Given the description of an element on the screen output the (x, y) to click on. 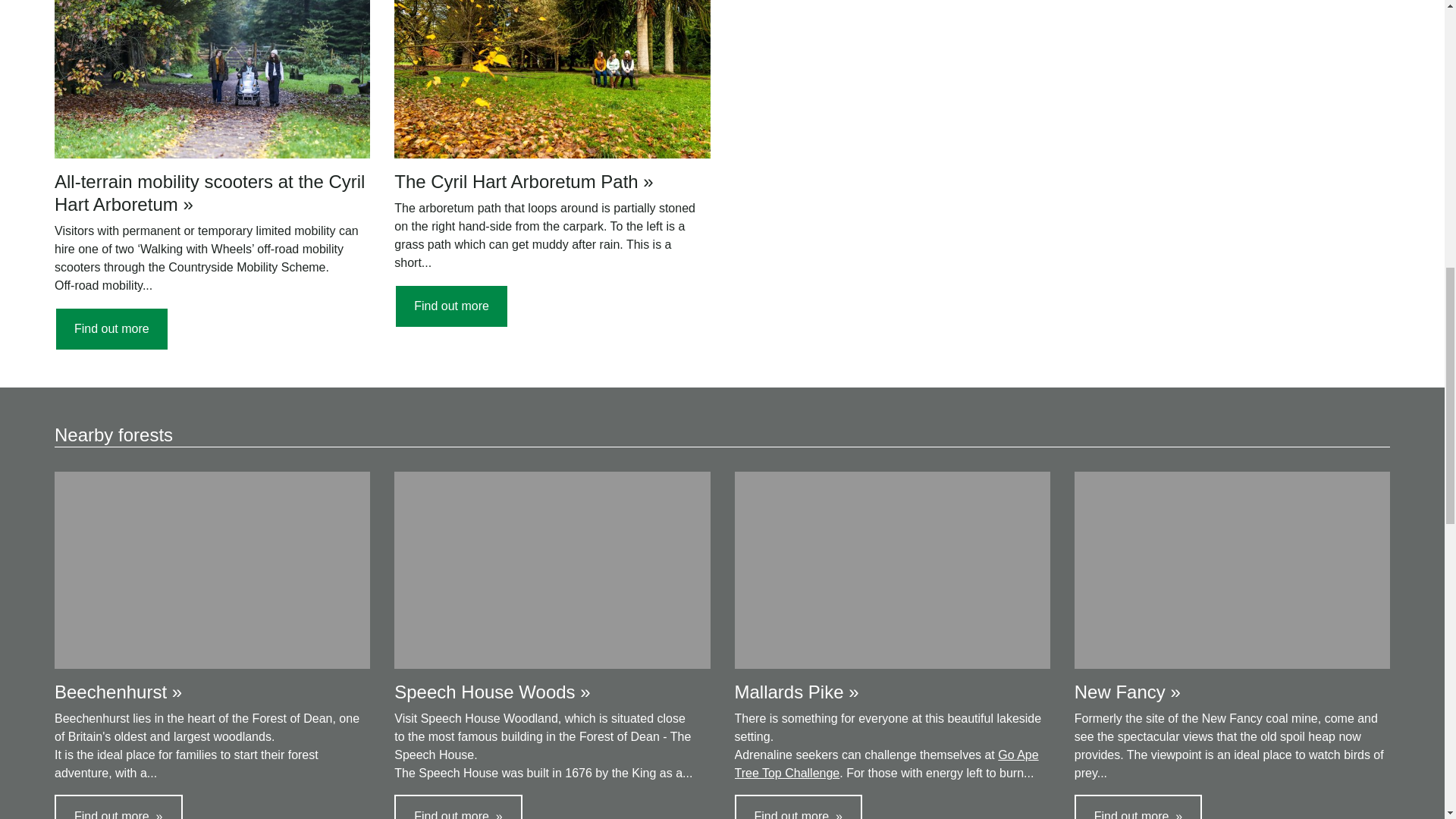
Speech House Woods (458, 806)
Beechenhurst (119, 806)
All-terrain mobility scooters at the Cyril Hart Arboretum (111, 329)
New Fancy (1138, 806)
Mallards Pike (797, 806)
The Cyril Hart Arboretum Path (451, 306)
